Given the description of an element on the screen output the (x, y) to click on. 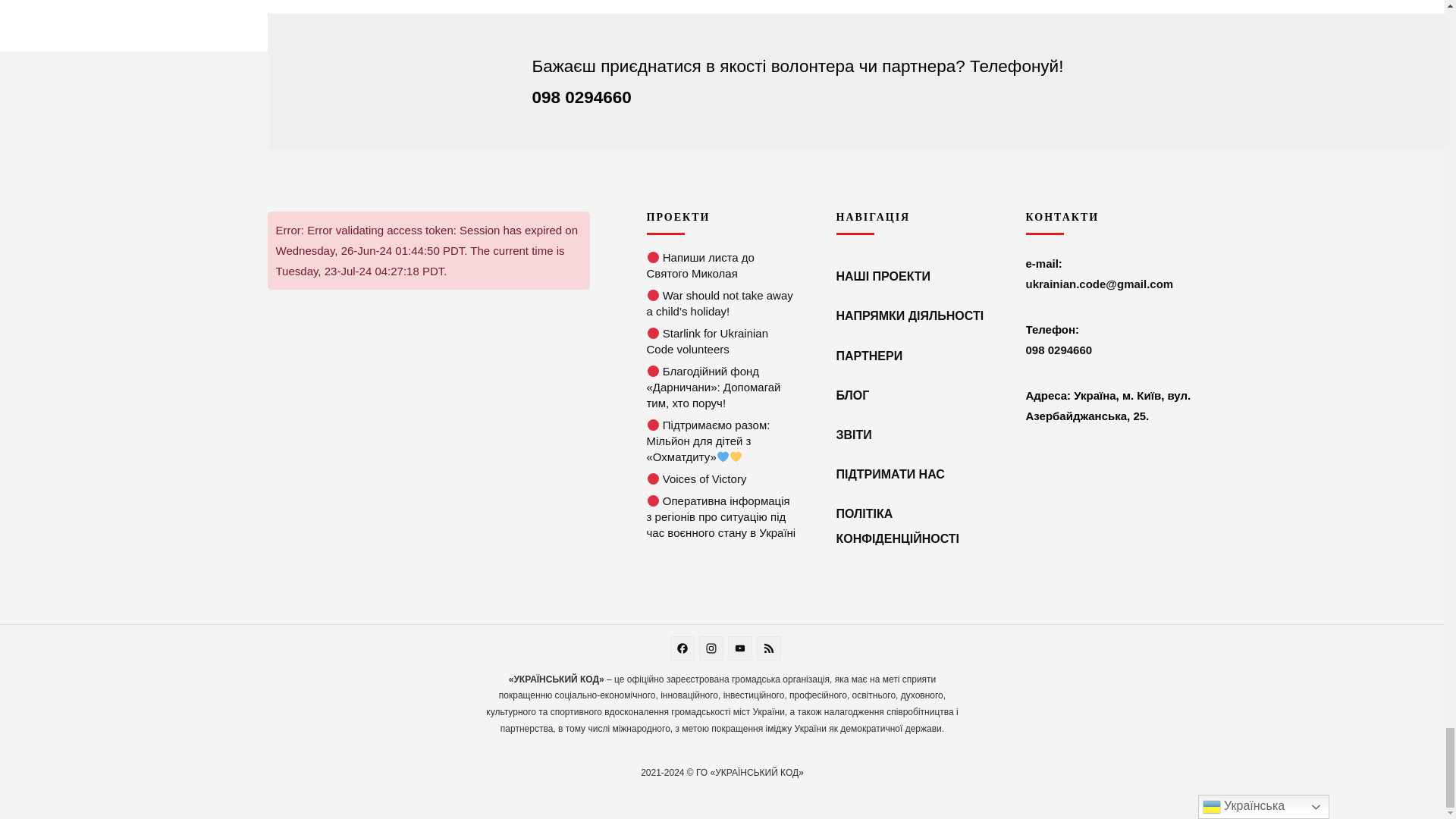
Facebook (683, 650)
Starlink for Ukrainian Code volunteers (654, 332)
Voices of Victory (654, 478)
